Given the description of an element on the screen output the (x, y) to click on. 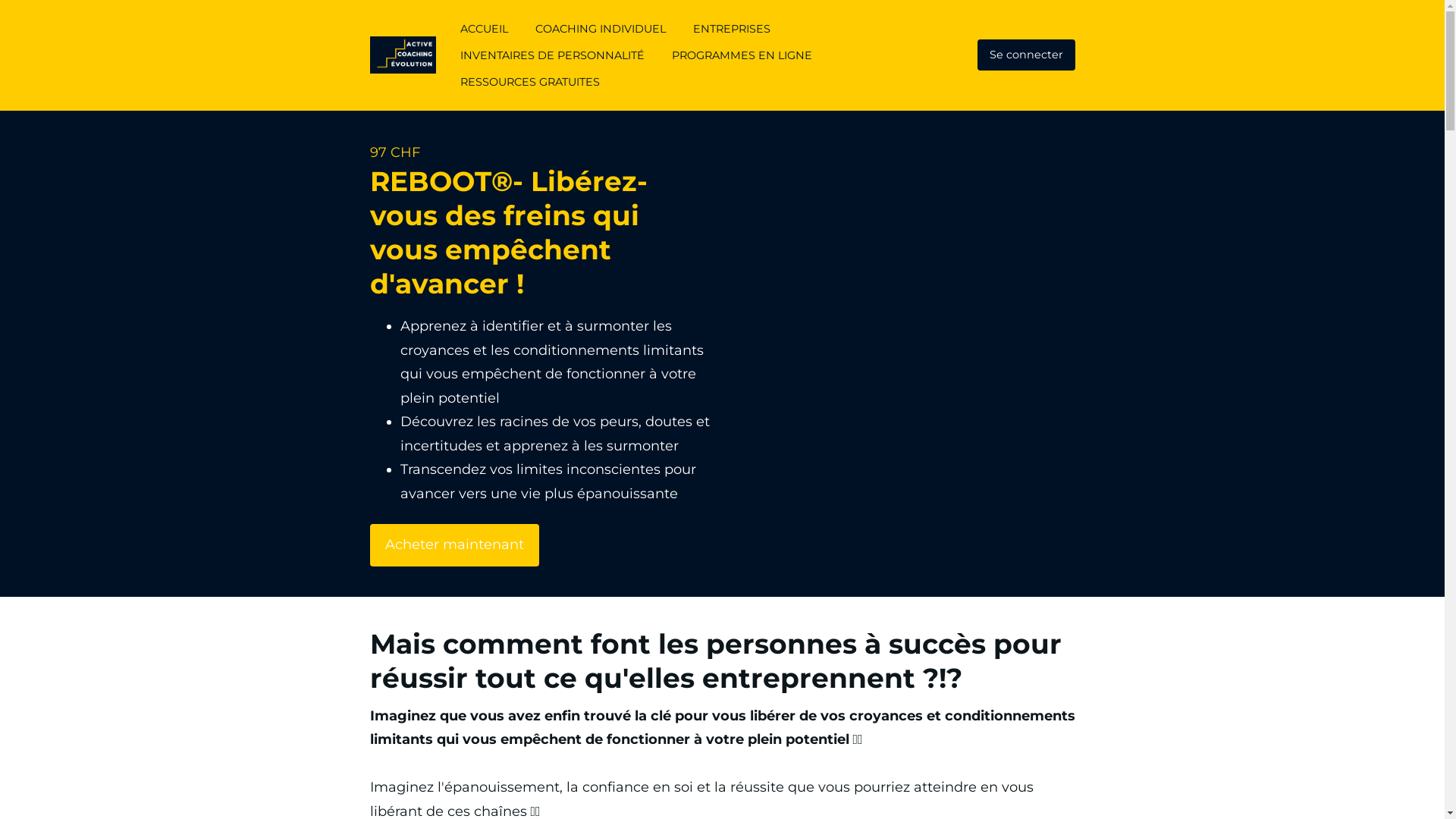
ACCUEIL Element type: text (484, 28)
COACHING INDIVIDUEL Element type: text (600, 28)
RESSOURCES GRATUITES Element type: text (529, 81)
Se connecter Element type: text (1025, 54)
Acheter maintenant Element type: text (454, 545)
ENTREPRISES Element type: text (731, 28)
PROGRAMMES EN LIGNE Element type: text (741, 55)
